Given the description of an element on the screen output the (x, y) to click on. 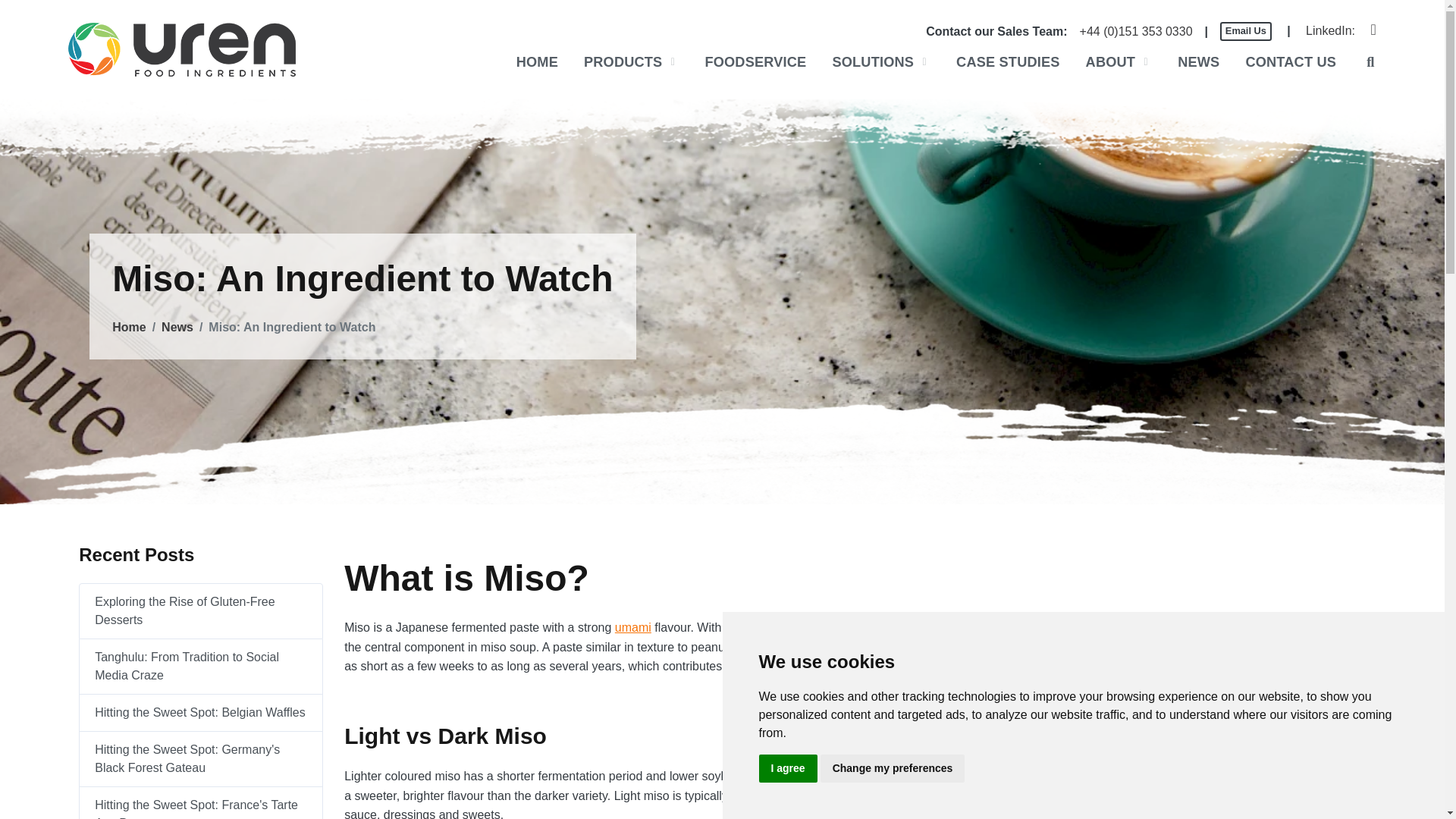
LinkedIn: (1330, 30)
PRODUCTS (630, 62)
SOLUTIONS (880, 62)
CASE STUDIES (1008, 62)
Change my preferences (893, 768)
ABOUT (1119, 62)
FOODSERVICE (755, 62)
Email Us (1245, 31)
I agree (787, 768)
NEWS (1198, 62)
CONTACT US (1290, 62)
HOME (537, 62)
umami (632, 626)
